Given the description of an element on the screen output the (x, y) to click on. 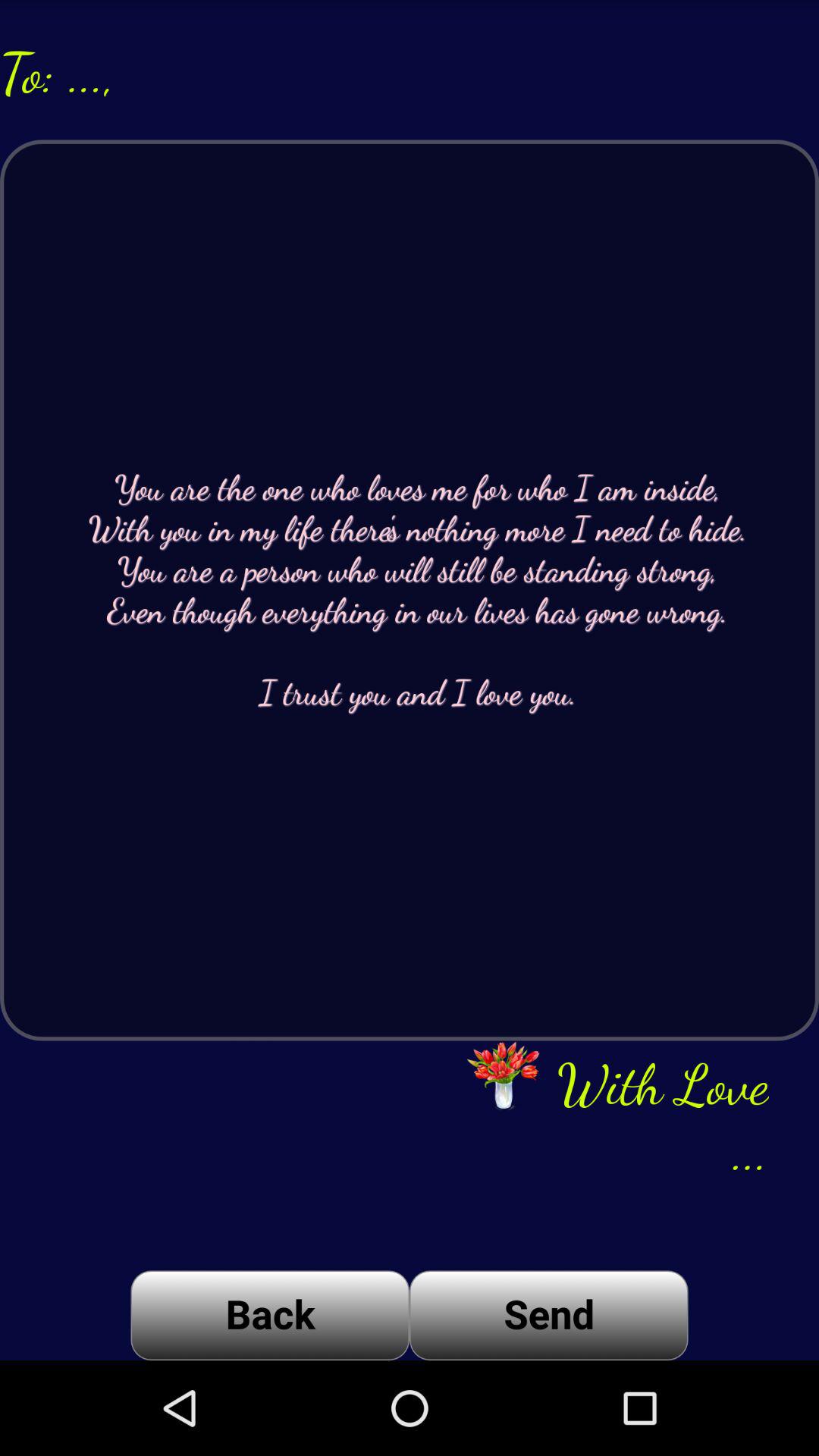
choose the icon below the with love
... item (548, 1315)
